Given the description of an element on the screen output the (x, y) to click on. 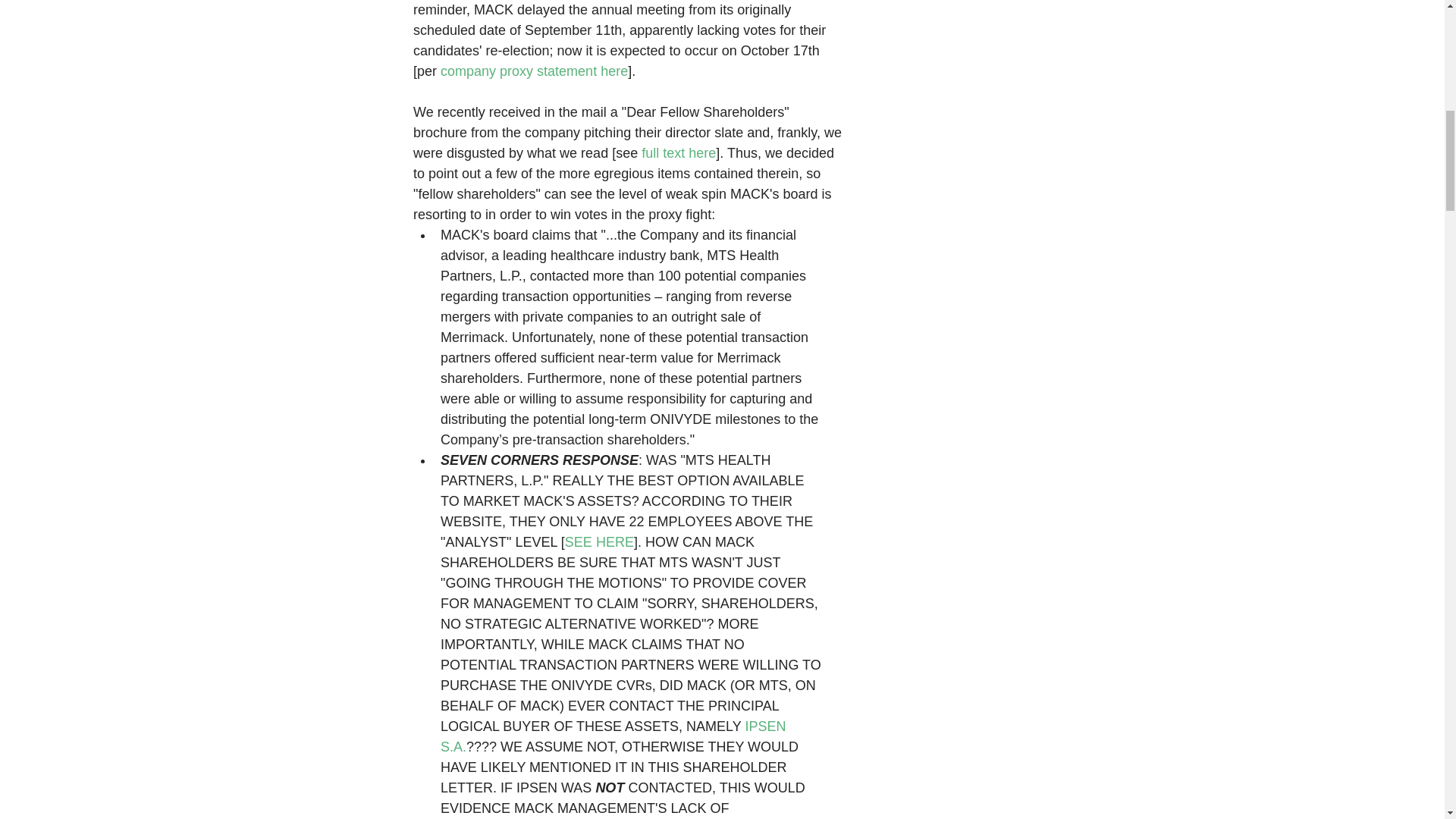
full text here (679, 152)
SEE HERE (598, 541)
IPSEN S.A. (614, 736)
company proxy statement here (534, 70)
